Given the description of an element on the screen output the (x, y) to click on. 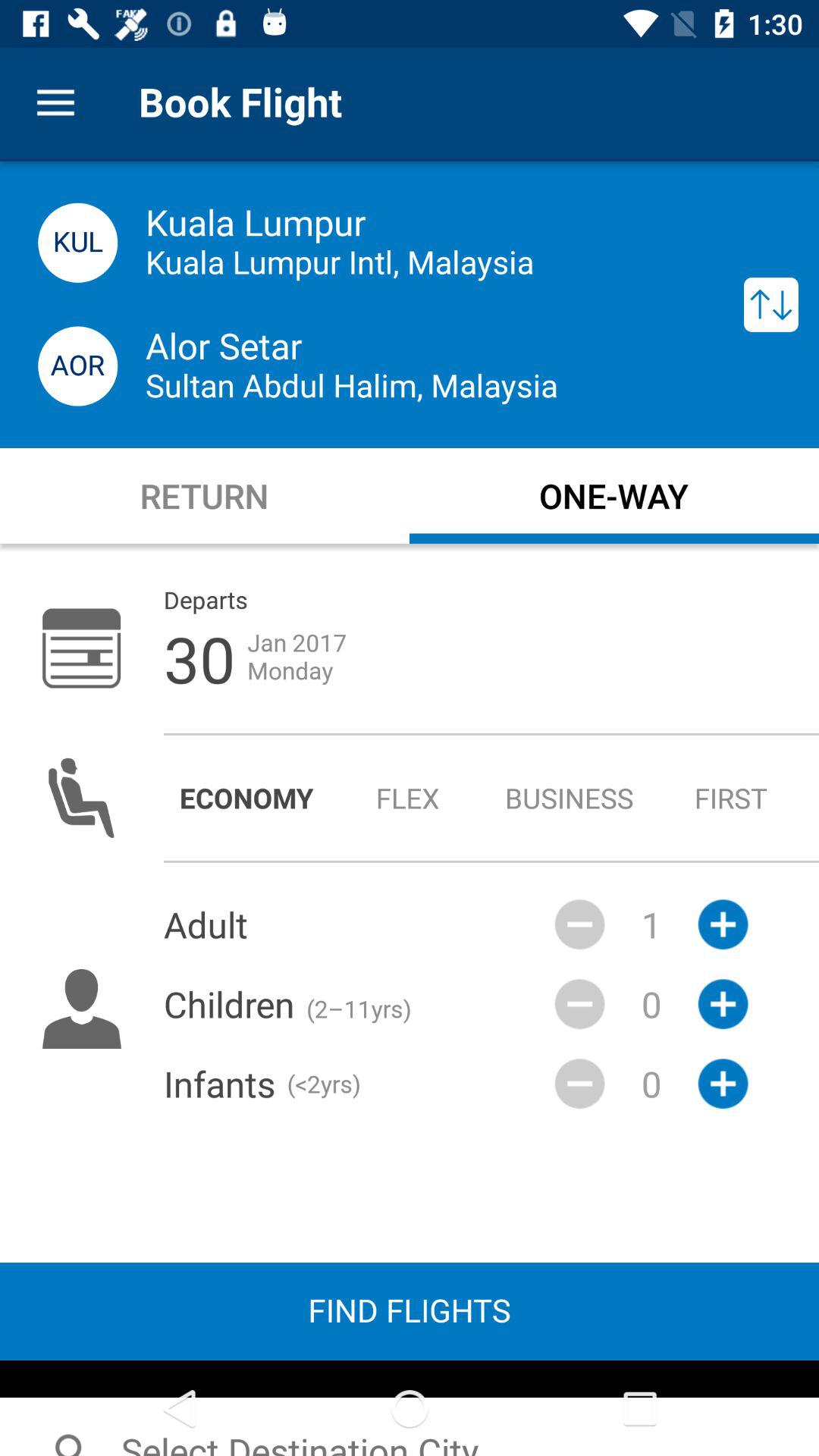
launch radio button next to first icon (569, 797)
